Given the description of an element on the screen output the (x, y) to click on. 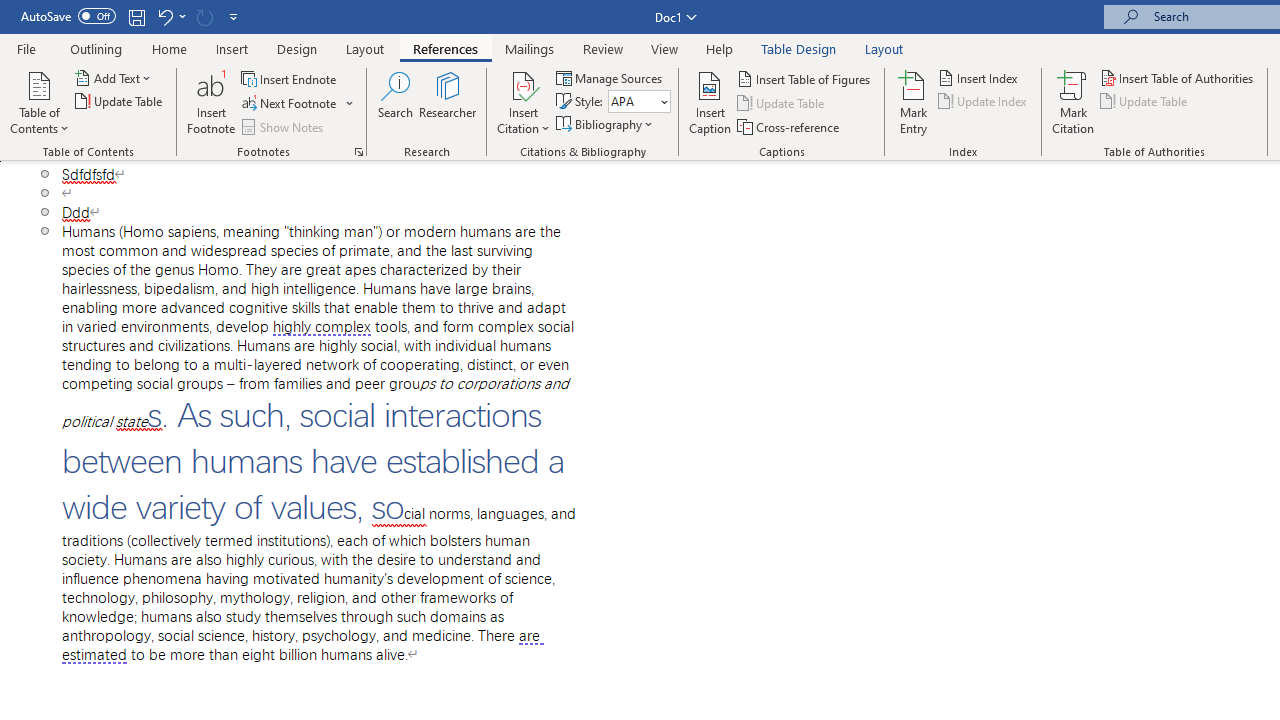
Undo Outline Move Up (164, 15)
Researcher (447, 102)
Insert Table of Figures... (804, 78)
